Given the description of an element on the screen output the (x, y) to click on. 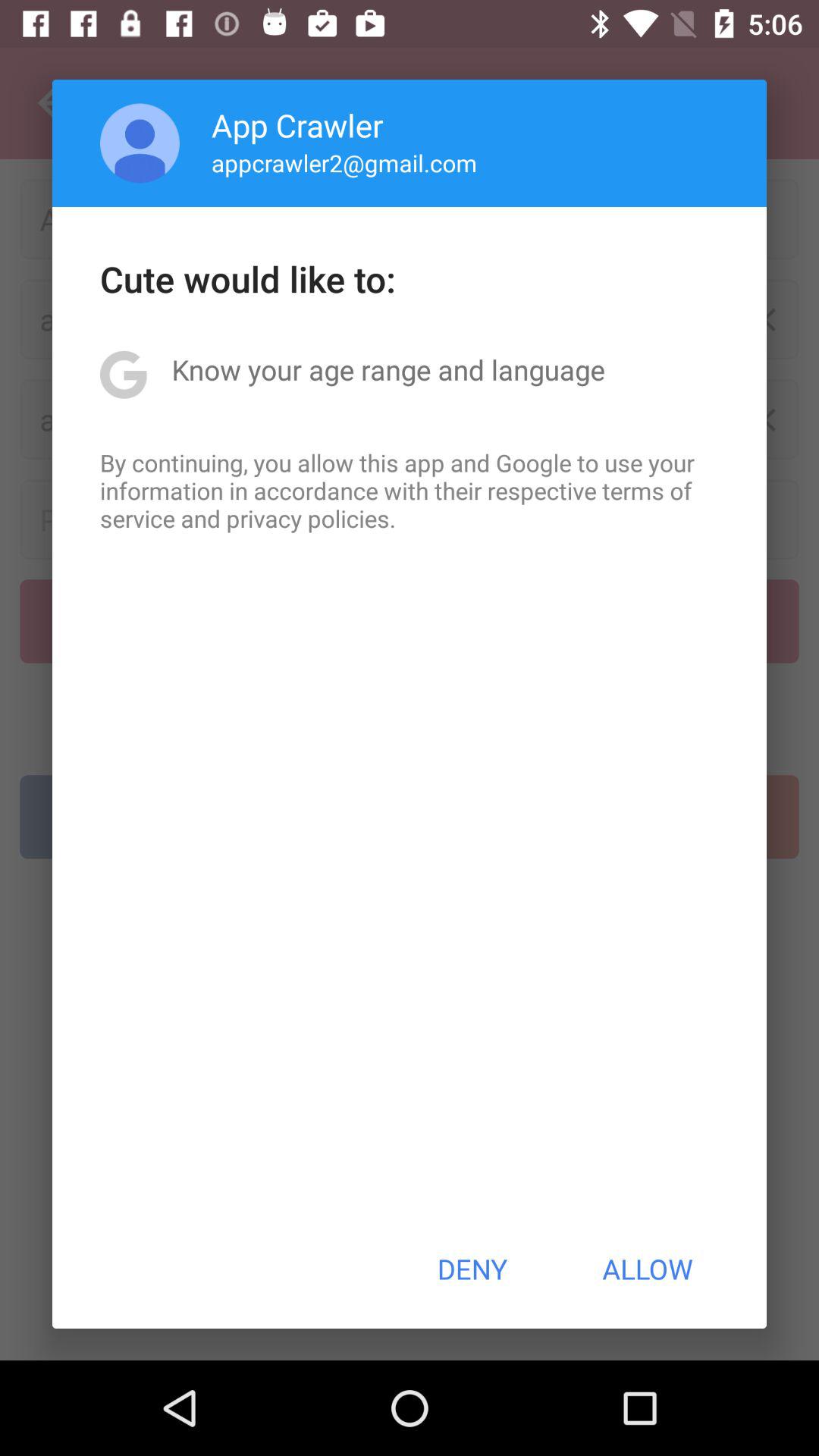
launch the icon below by continuing you app (471, 1268)
